Given the description of an element on the screen output the (x, y) to click on. 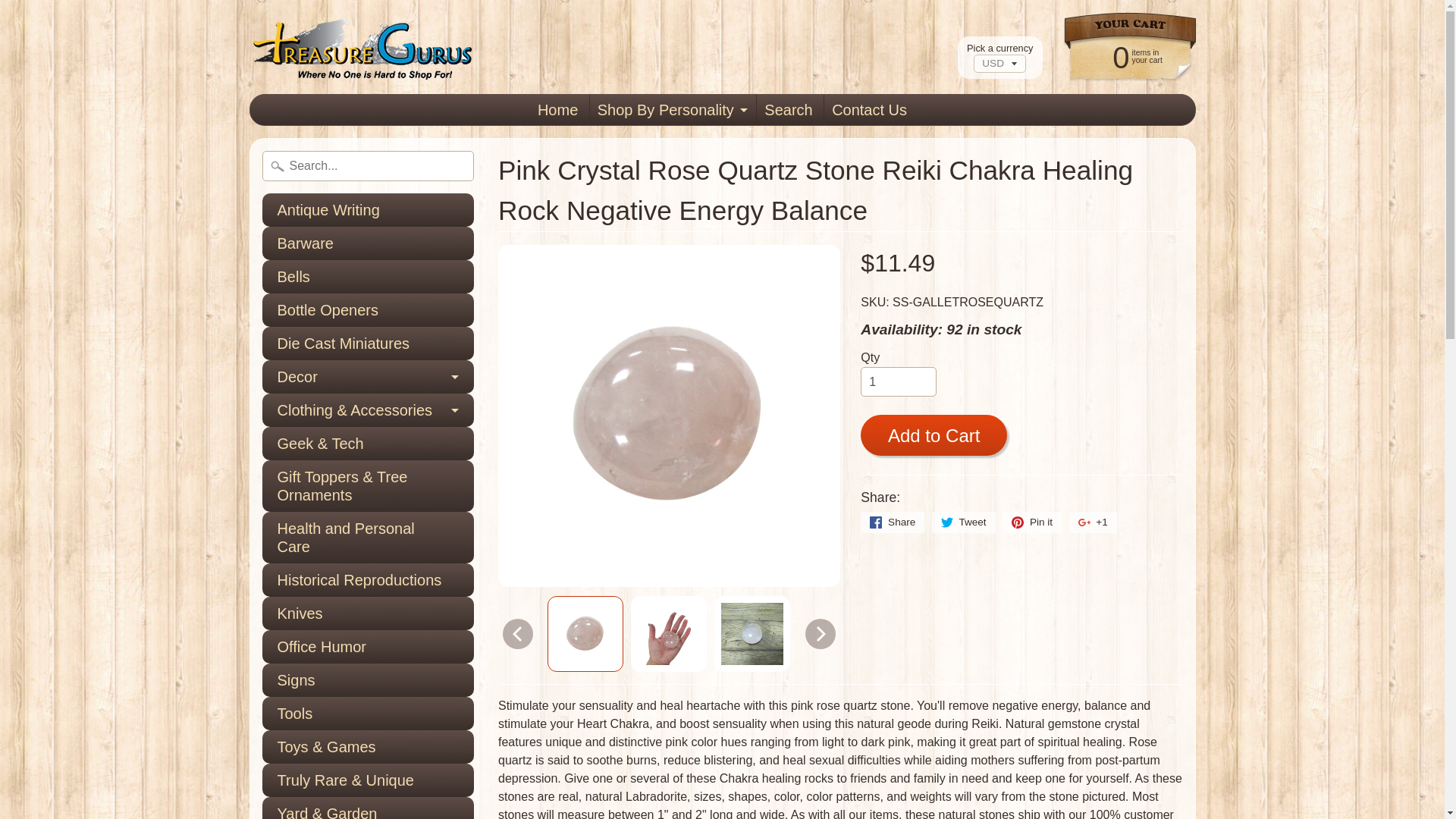
TreasureGurus (362, 46)
Bottle Openers (368, 309)
1 (898, 381)
Tweet on Twitter (963, 522)
Shop By Personality (670, 110)
Contact Us (869, 110)
Bells (368, 276)
Antique Writing (368, 209)
Share on Facebook (892, 522)
Pin on Pinterest (1032, 522)
Decor (368, 376)
Barware (368, 243)
Home (557, 110)
